Given the description of an element on the screen output the (x, y) to click on. 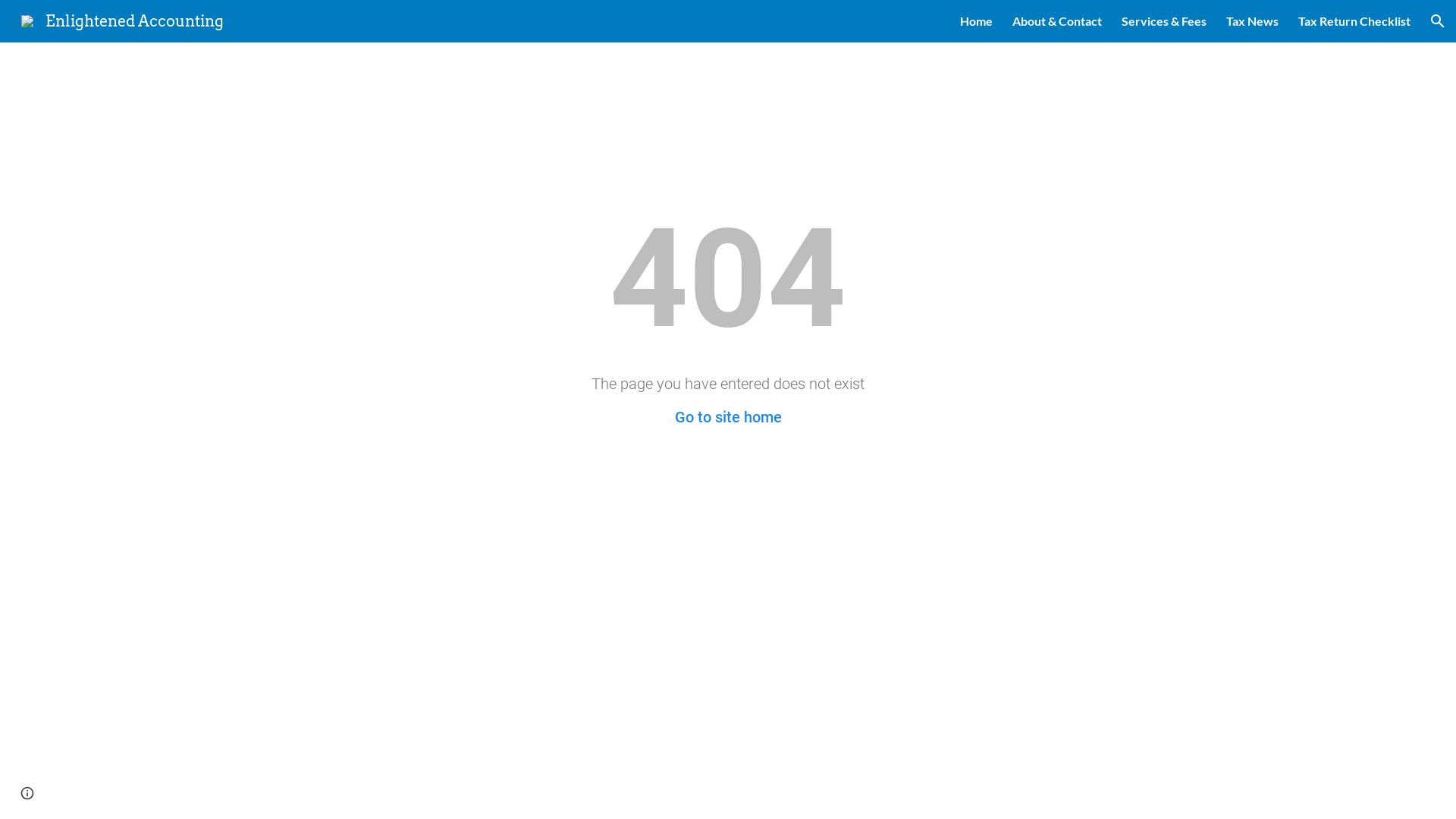
About & Contact Element type: text (1056, 20)
Enlightened Accounting Element type: text (122, 19)
Tax News Element type: text (1252, 20)
Tax Return Checklist Element type: text (1354, 20)
Services & Fees Element type: text (1163, 20)
Home Element type: text (976, 20)
Go to site home Element type: text (727, 416)
